Given the description of an element on the screen output the (x, y) to click on. 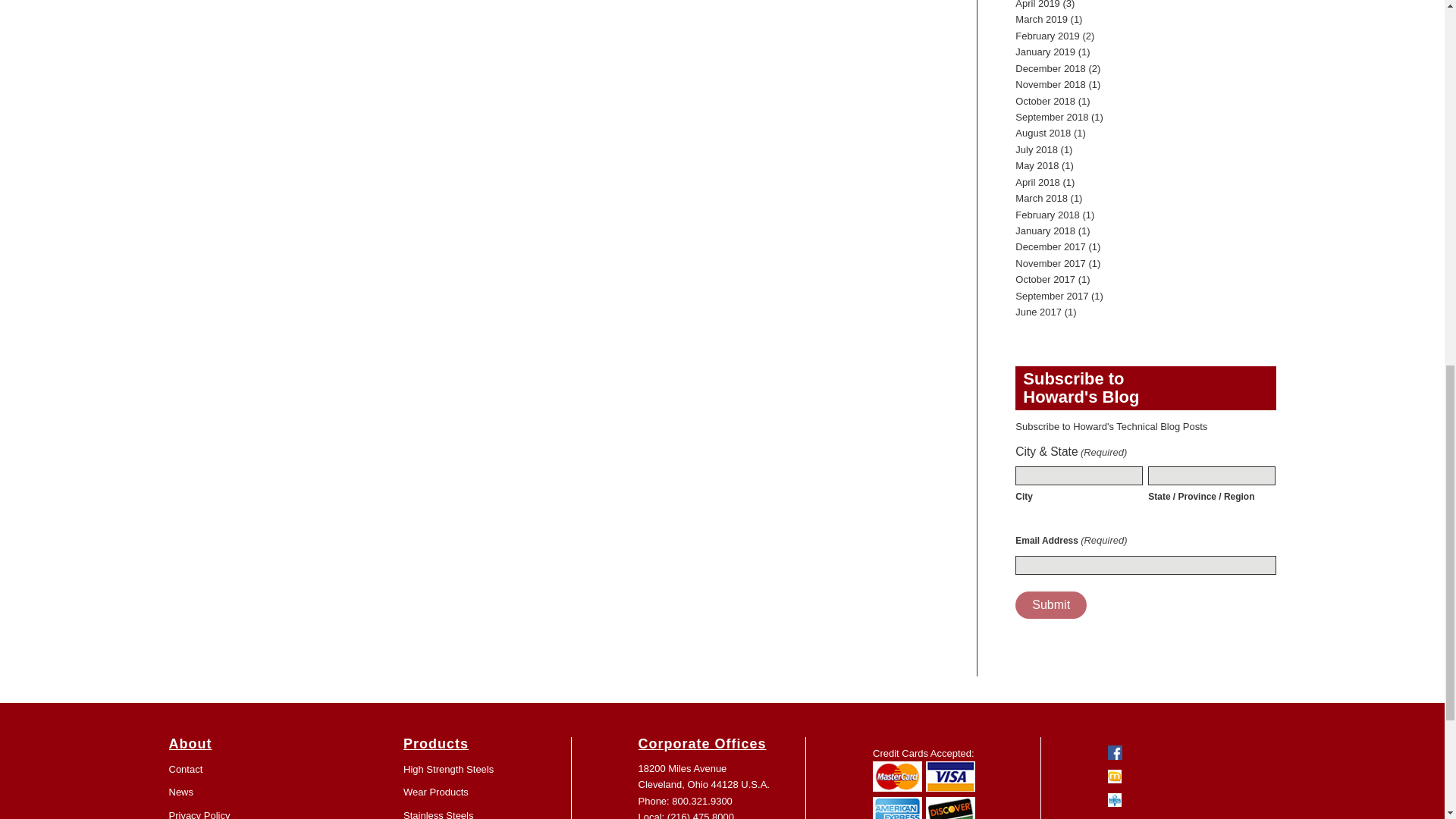
Submit (1050, 605)
